Given the description of an element on the screen output the (x, y) to click on. 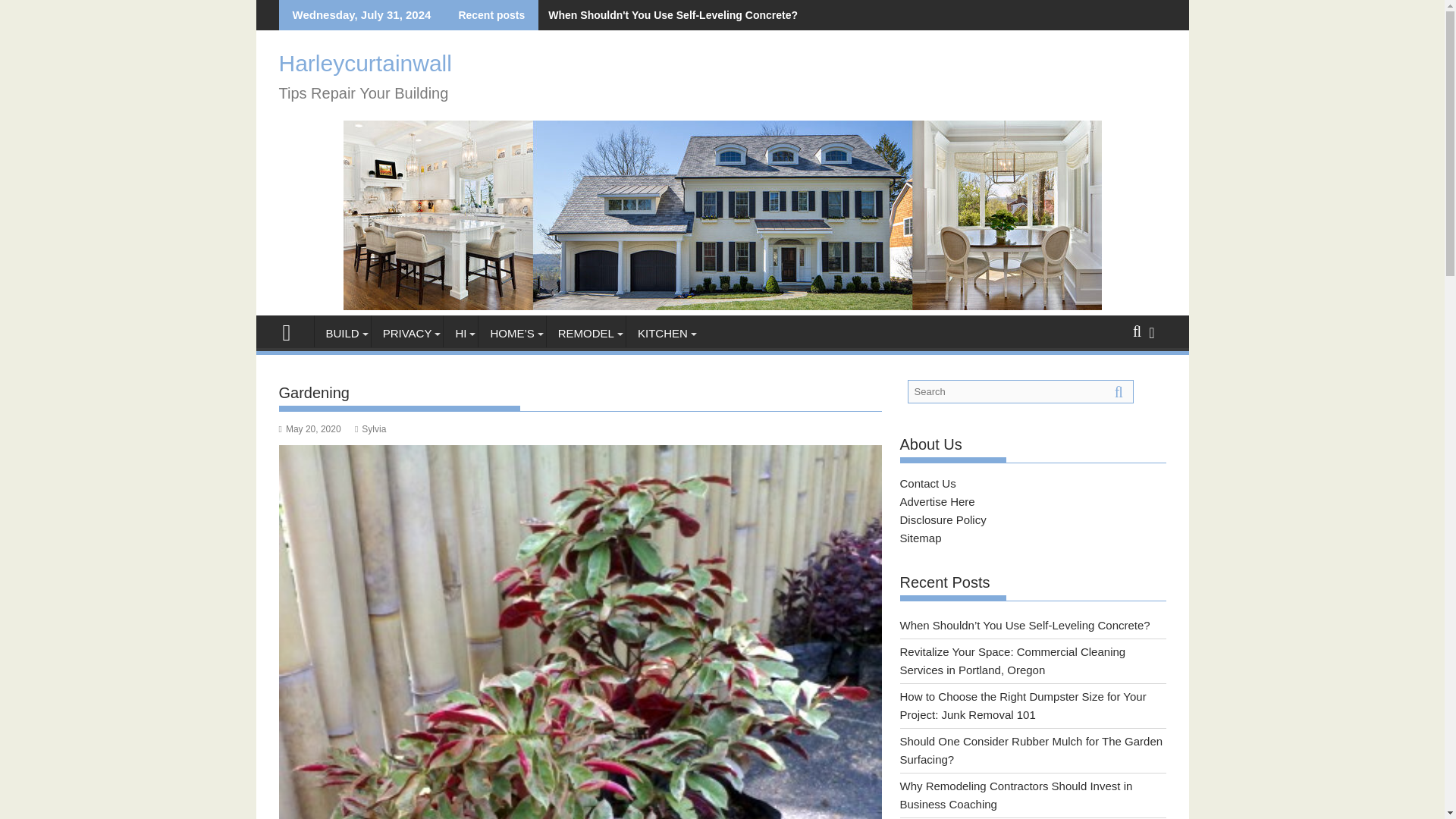
REMODEL (586, 333)
Harleycurtainwall (293, 331)
Harleycurtainwall (365, 63)
When Shouldn't You Use Self-Leveling Concrete?  (669, 15)
Harleycurtainwall (721, 305)
BUILD (341, 333)
KITCHEN (662, 333)
HI (460, 333)
PRIVACY (407, 333)
